Given the description of an element on the screen output the (x, y) to click on. 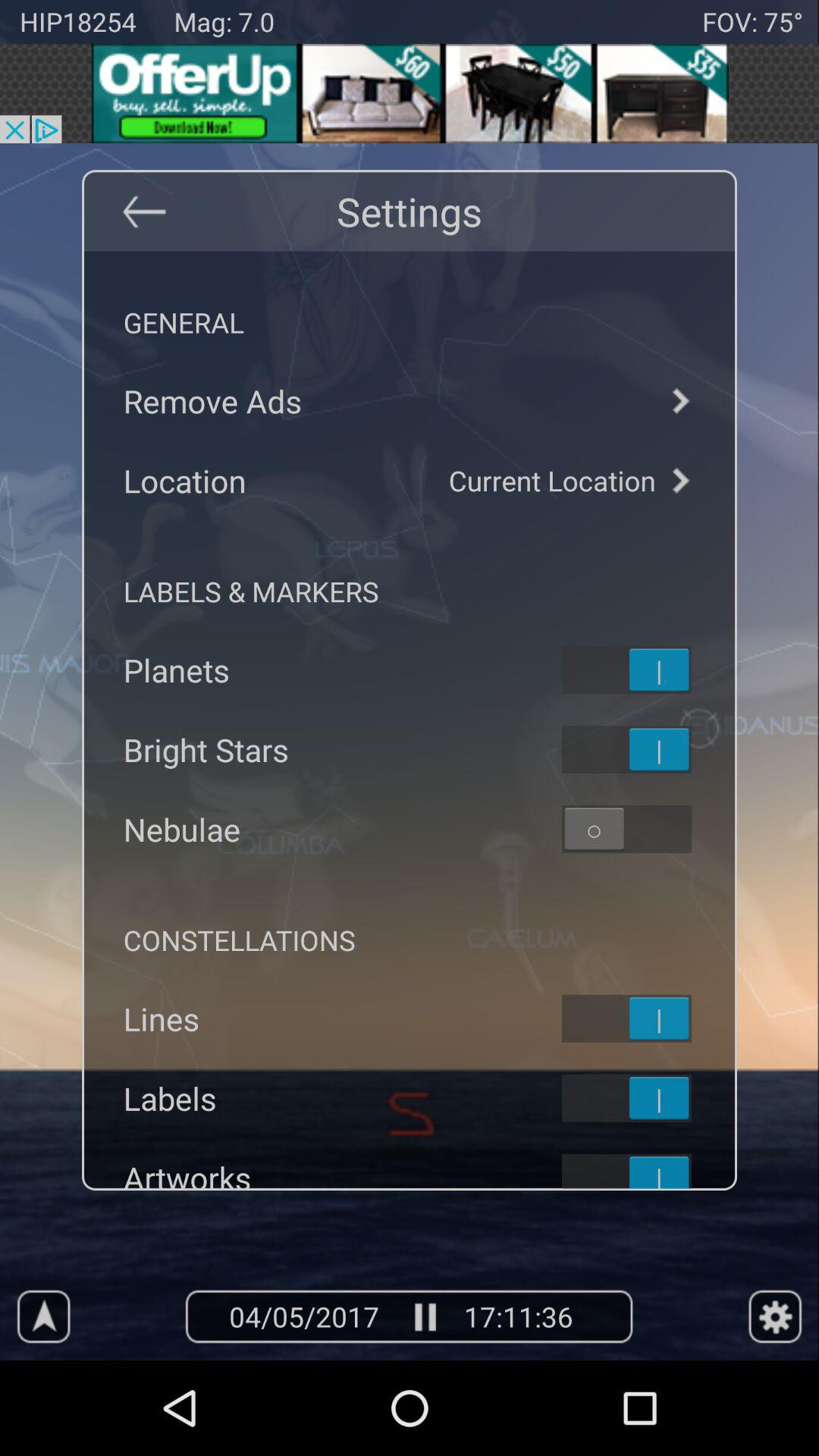
turn on lines (646, 1018)
